Given the description of an element on the screen output the (x, y) to click on. 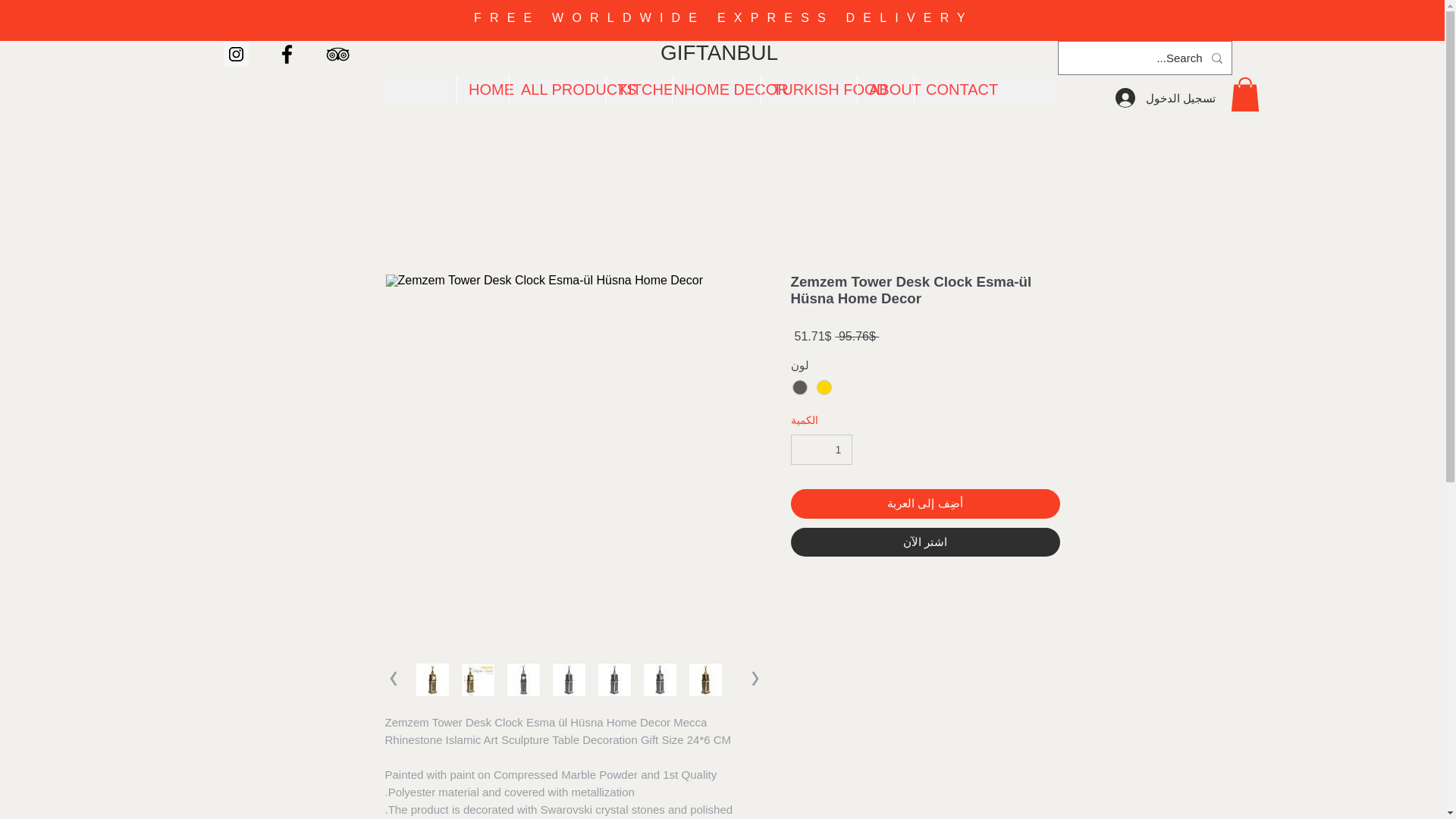
HOME (482, 90)
KITCHEN (638, 90)
CONTACT (947, 90)
1 (820, 450)
ABOUT (885, 90)
HOME DECOR (715, 90)
TURKISH FOOD (808, 90)
ALL PRODUCTS (556, 90)
GIFTANBUL (719, 52)
